Given the description of an element on the screen output the (x, y) to click on. 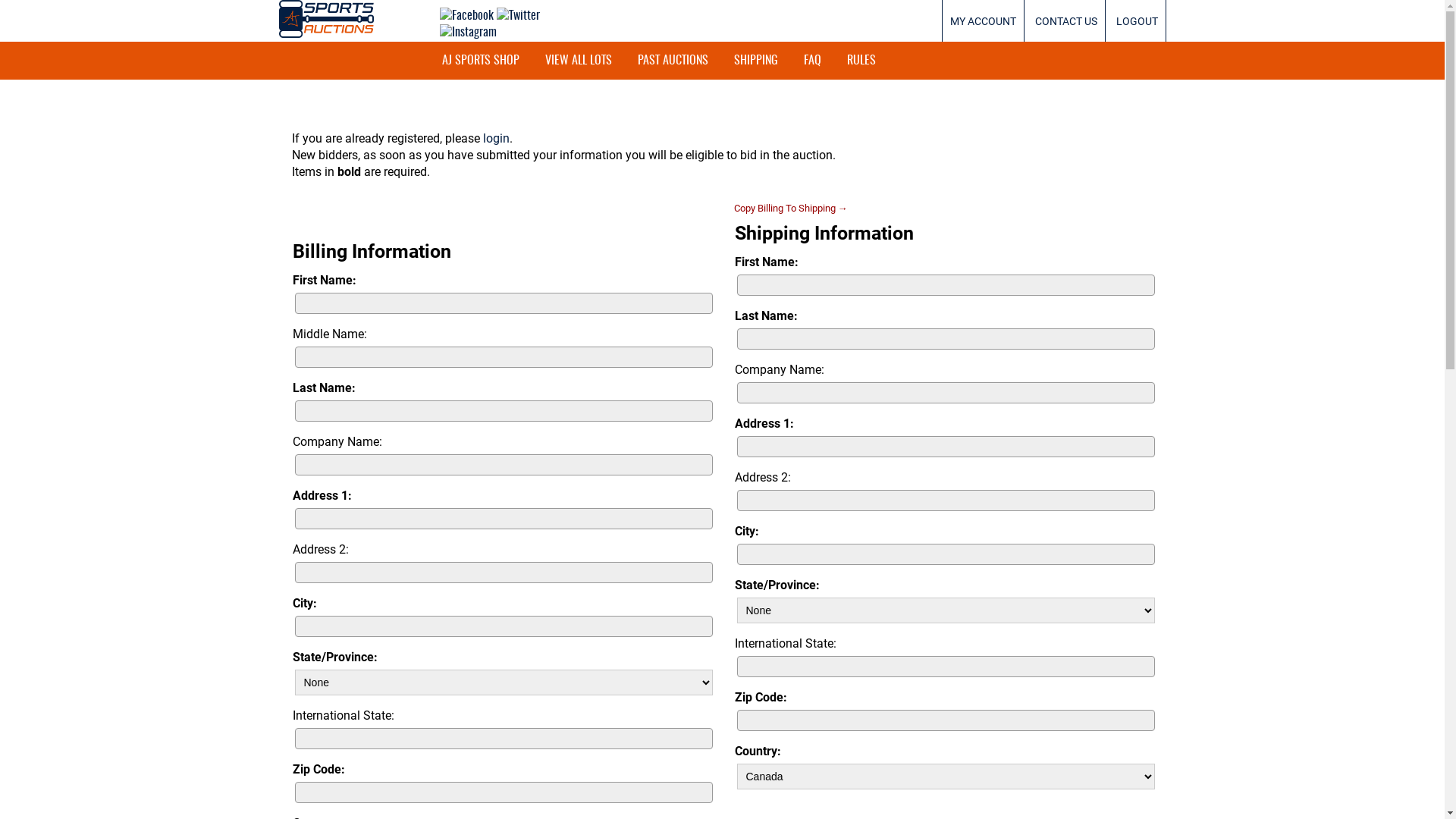
MY ACCOUNT Element type: text (982, 21)
Instagram Element type: hover (467, 32)
Facebook Element type: hover (466, 15)
RULES Element type: text (861, 60)
AJ SPORTS SHOP Element type: text (480, 60)
SHIPPING Element type: text (754, 60)
VIEW ALL LOTS Element type: text (578, 60)
CONTACT US Element type: text (1065, 21)
Twitter Element type: hover (517, 15)
PAST AUCTIONS Element type: text (672, 60)
FAQ Element type: text (811, 60)
LOGOUT Element type: text (1136, 21)
login Element type: text (495, 138)
